Given the description of an element on the screen output the (x, y) to click on. 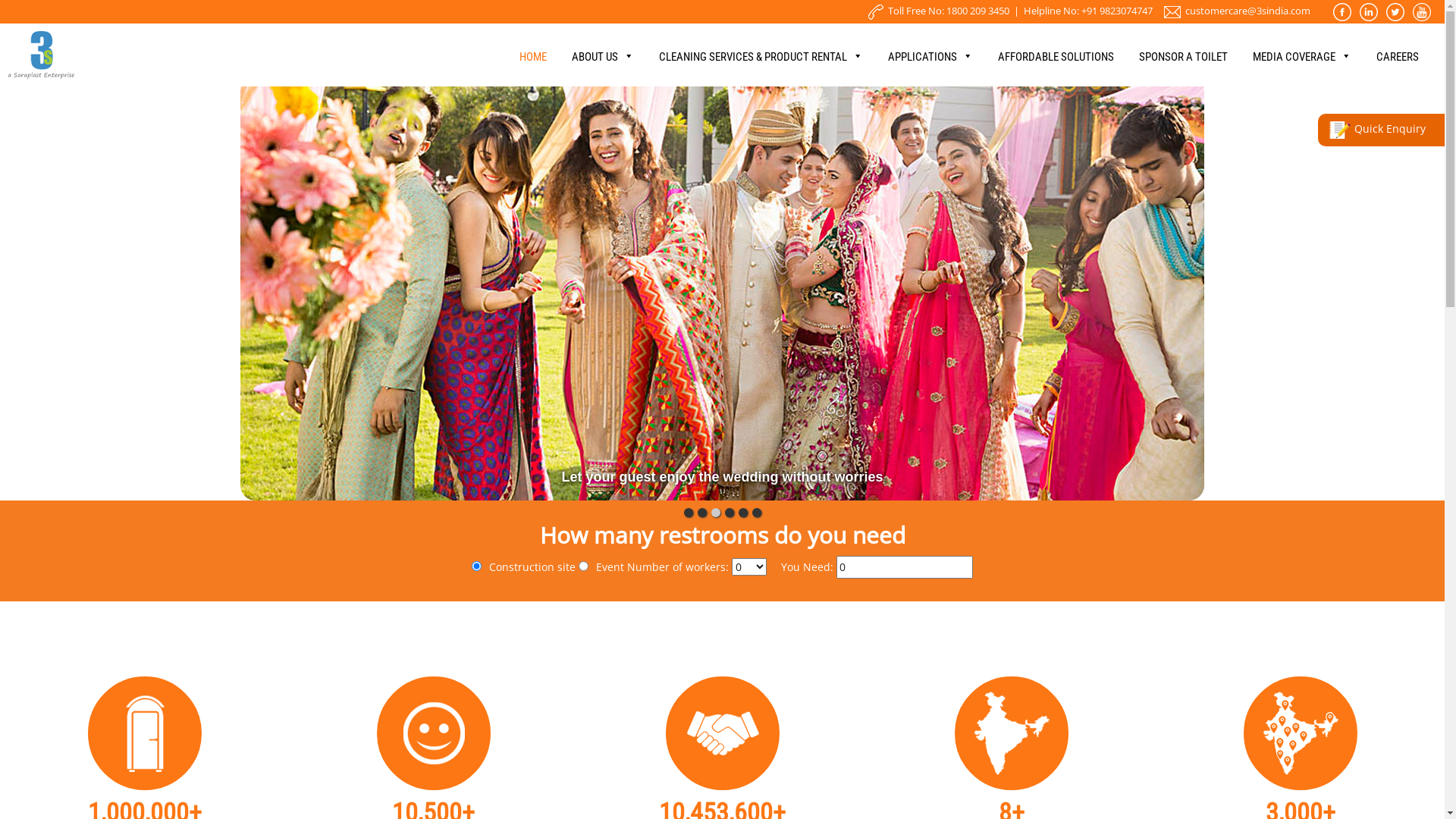
ABOUT US Element type: text (602, 68)
2 Element type: text (583, 566)
Quick Enquiry Element type: text (1384, 129)
SPONSOR A TOILET Element type: text (1182, 68)
1 Element type: text (476, 566)
AFFORDABLE SOLUTIONS Element type: text (1055, 68)
CAREERS Element type: text (1397, 68)
MEDIA COVERAGE Element type: text (1301, 68)
customercare@3sindia.com Element type: text (1247, 10)
HOME Element type: text (532, 68)
CLEANING SERVICES & PRODUCT RENTAL Element type: text (760, 68)
APPLICATIONS Element type: text (930, 68)
